Given the description of an element on the screen output the (x, y) to click on. 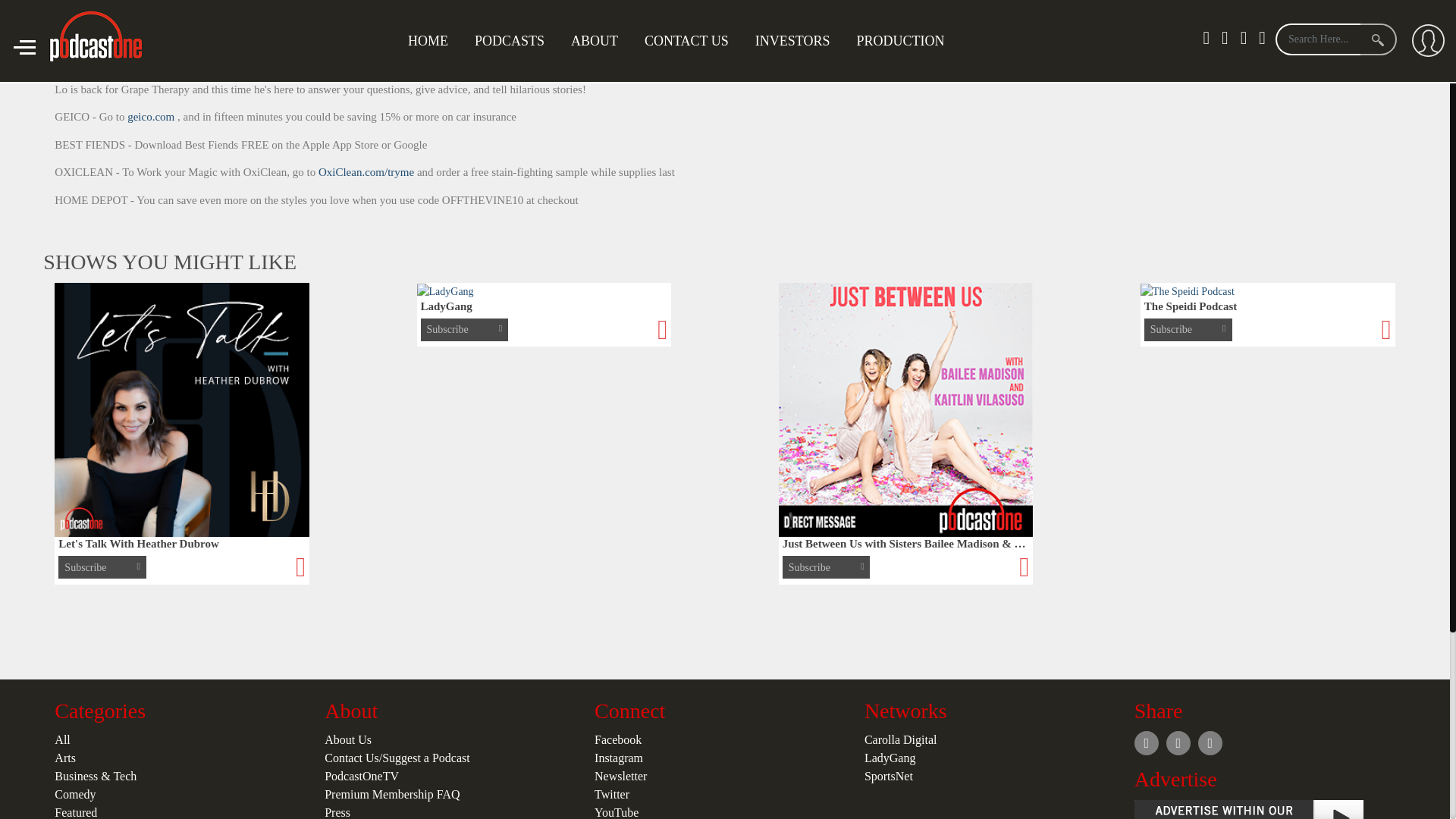
PRODUCTION (899, 40)
INVESTORS (792, 40)
HOME (428, 40)
Subscribe (1270, 52)
ABOUT (593, 40)
PODCASTS (509, 40)
Follow Us on Twitter (1350, 52)
Follow Us on Facebook (1382, 52)
CONTACT US (686, 40)
